Given the description of an element on the screen output the (x, y) to click on. 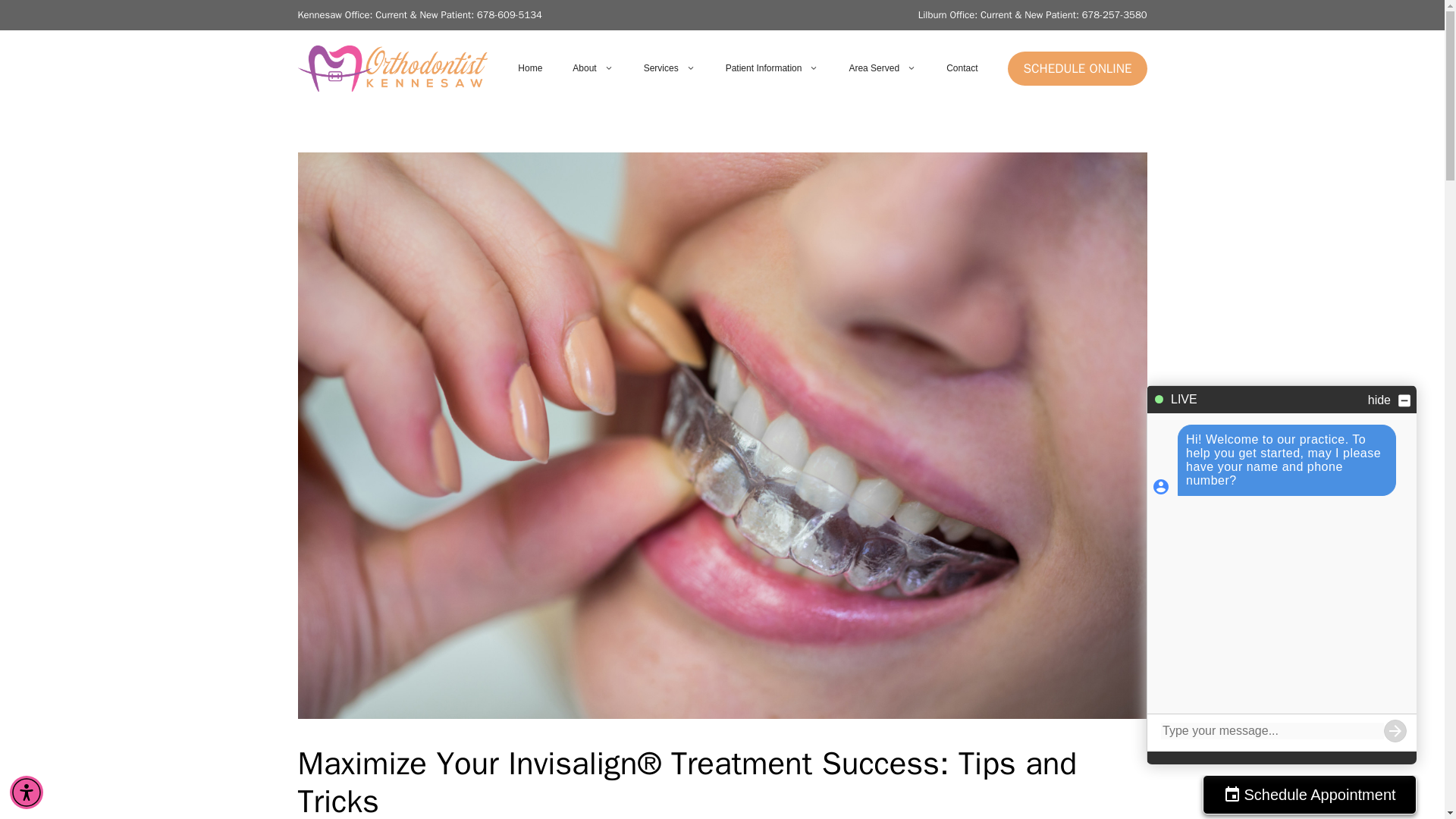
678-609-5134 (509, 14)
Home (529, 67)
678-257-3580 (1114, 14)
Patient Information (772, 67)
SCHEDULE ONLINE (1077, 68)
Orthodontist Kennesaw (391, 67)
Contact (961, 67)
About (592, 67)
Accessibility Menu (26, 792)
Services (669, 67)
Area Served (881, 67)
Orthodontist Kennesaw (391, 68)
